Given the description of an element on the screen output the (x, y) to click on. 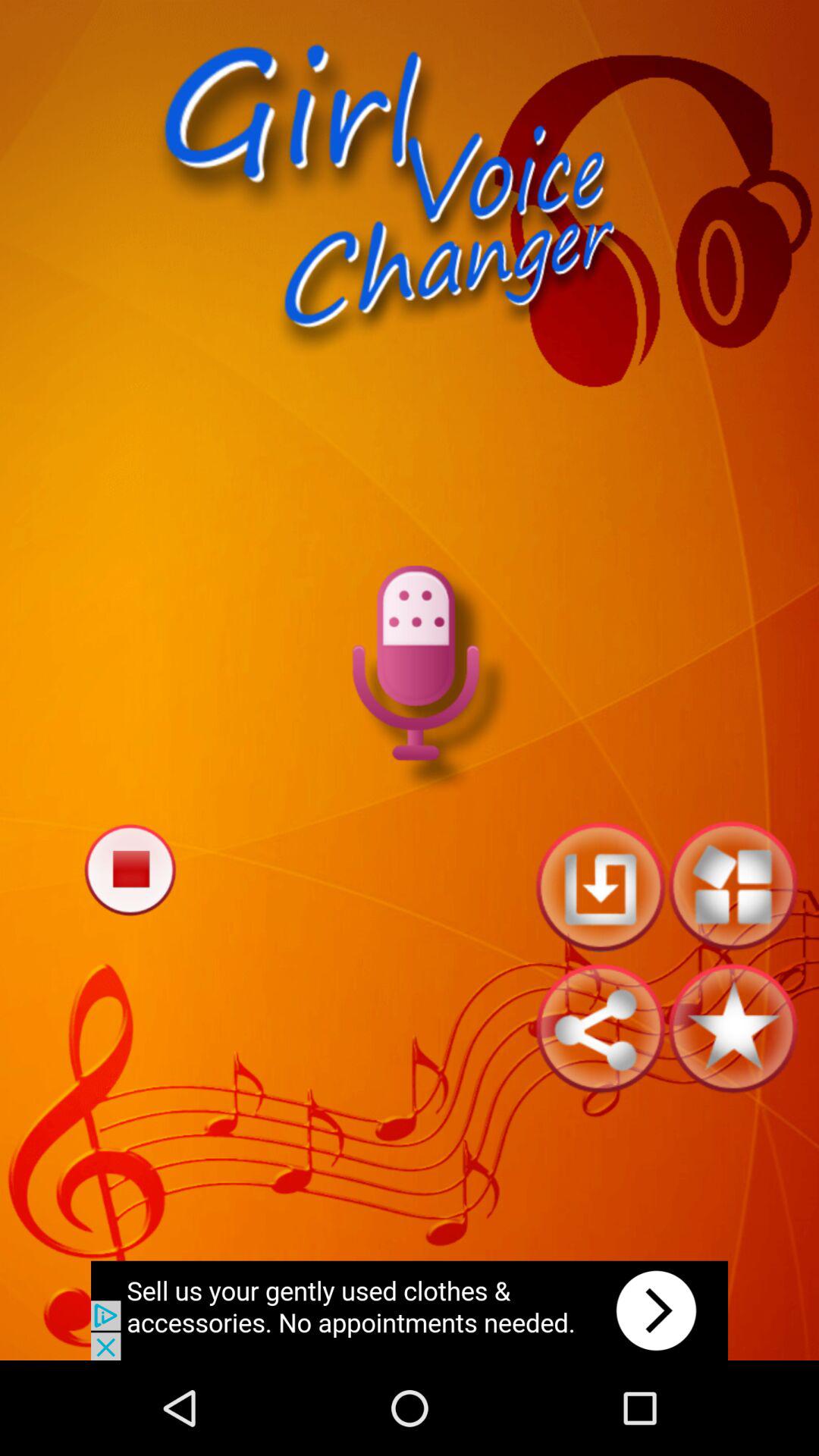
shuffle mode (732, 885)
